Given the description of an element on the screen output the (x, y) to click on. 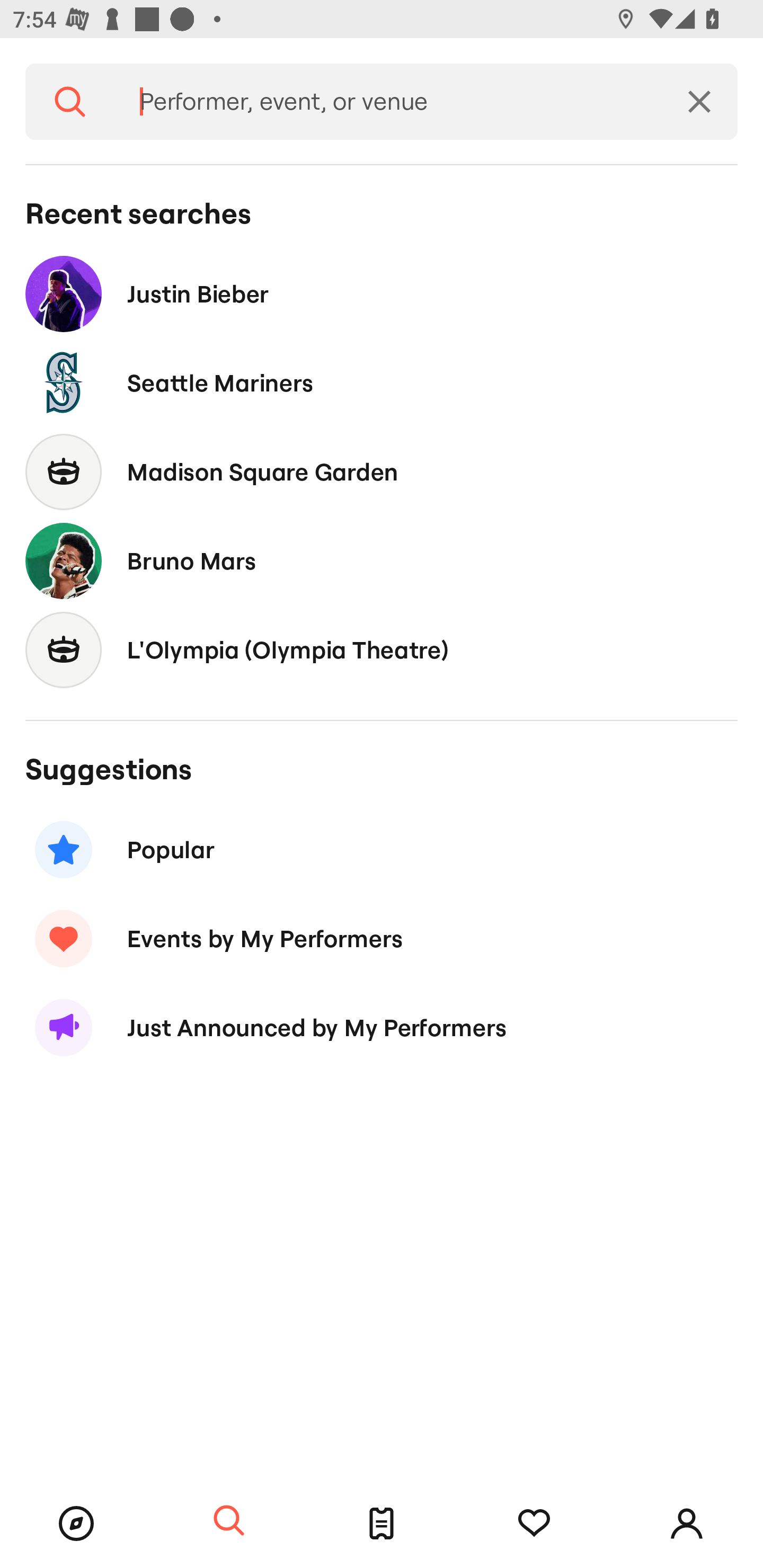
Search (69, 101)
Performer, event, or venue (387, 101)
Clear (699, 101)
Justin Bieber (381, 293)
Seattle Mariners (381, 383)
Madison Square Garden (381, 471)
Bruno Mars (381, 560)
L'Olympia (Olympia Theatre) (381, 649)
Popular (381, 849)
Events by My Performers (381, 938)
Just Announced by My Performers (381, 1027)
Browse (76, 1523)
Search (228, 1521)
Tickets (381, 1523)
Tracking (533, 1523)
Account (686, 1523)
